Given the description of an element on the screen output the (x, y) to click on. 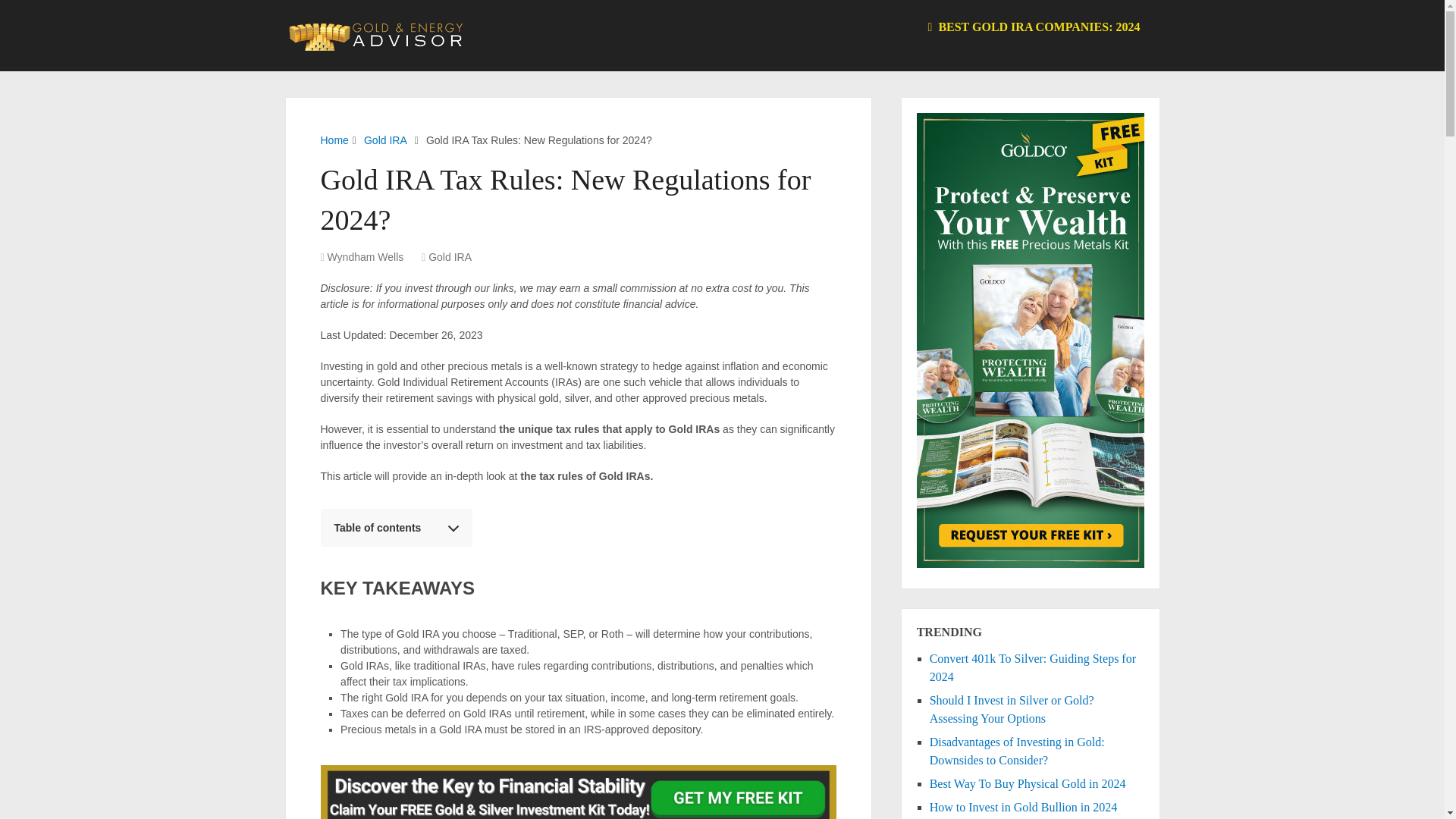
Gold IRA (385, 140)
Should I Invest in Silver or Gold? Assessing Your Options (1012, 708)
View all posts in Gold IRA (449, 256)
How to Invest in Gold Bullion in 2024 (1024, 807)
Gold IRA (449, 256)
Best Way To Buy Physical Gold in 2024 (1027, 783)
Home (333, 140)
Wyndham Wells (365, 256)
Gold IRA Tax Rules: New Regulations for 2024? 1 (577, 791)
Posts by Wyndham Wells (365, 256)
